Given the description of an element on the screen output the (x, y) to click on. 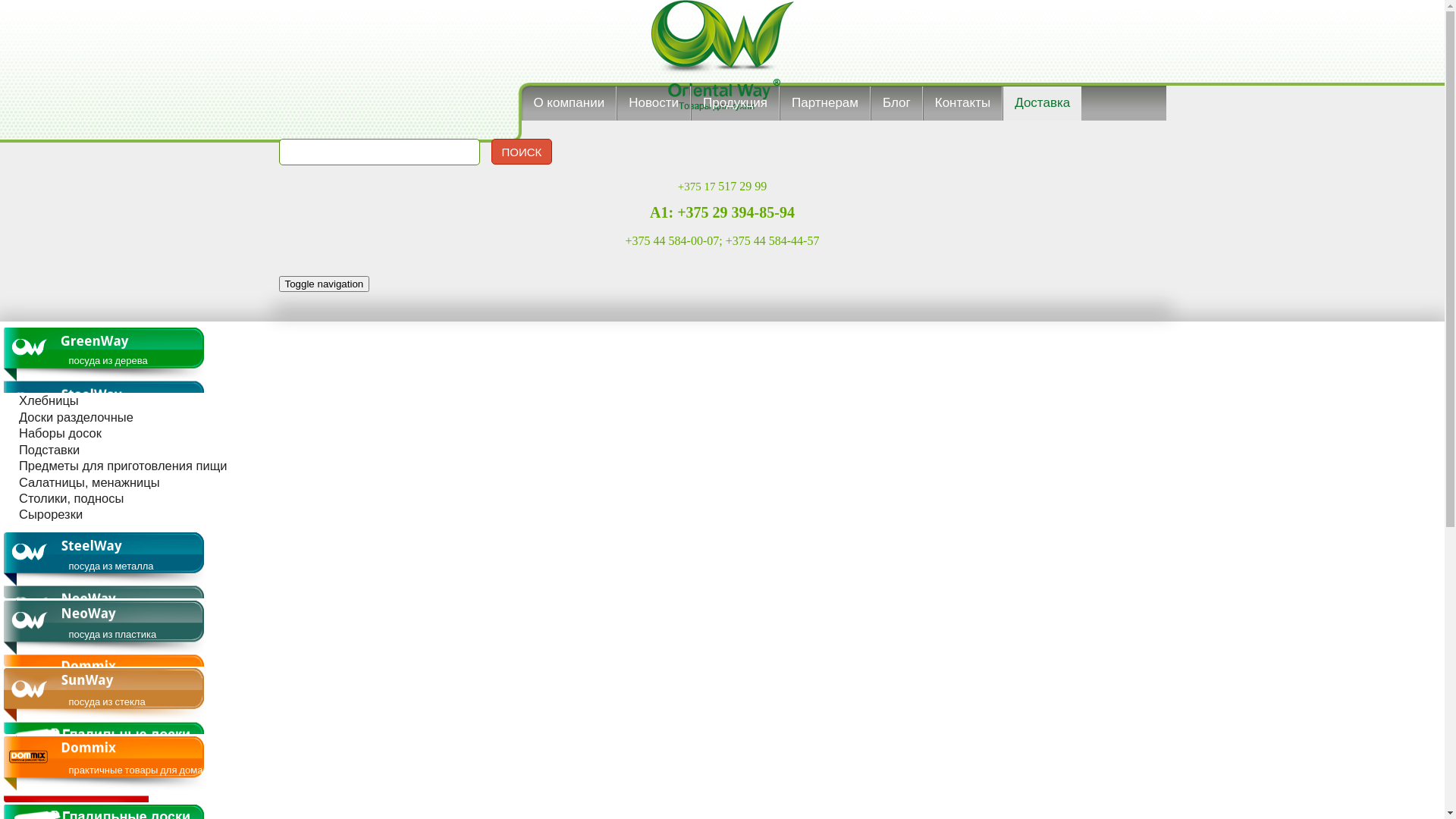
Toggle navigation Element type: text (324, 283)
